Given the description of an element on the screen output the (x, y) to click on. 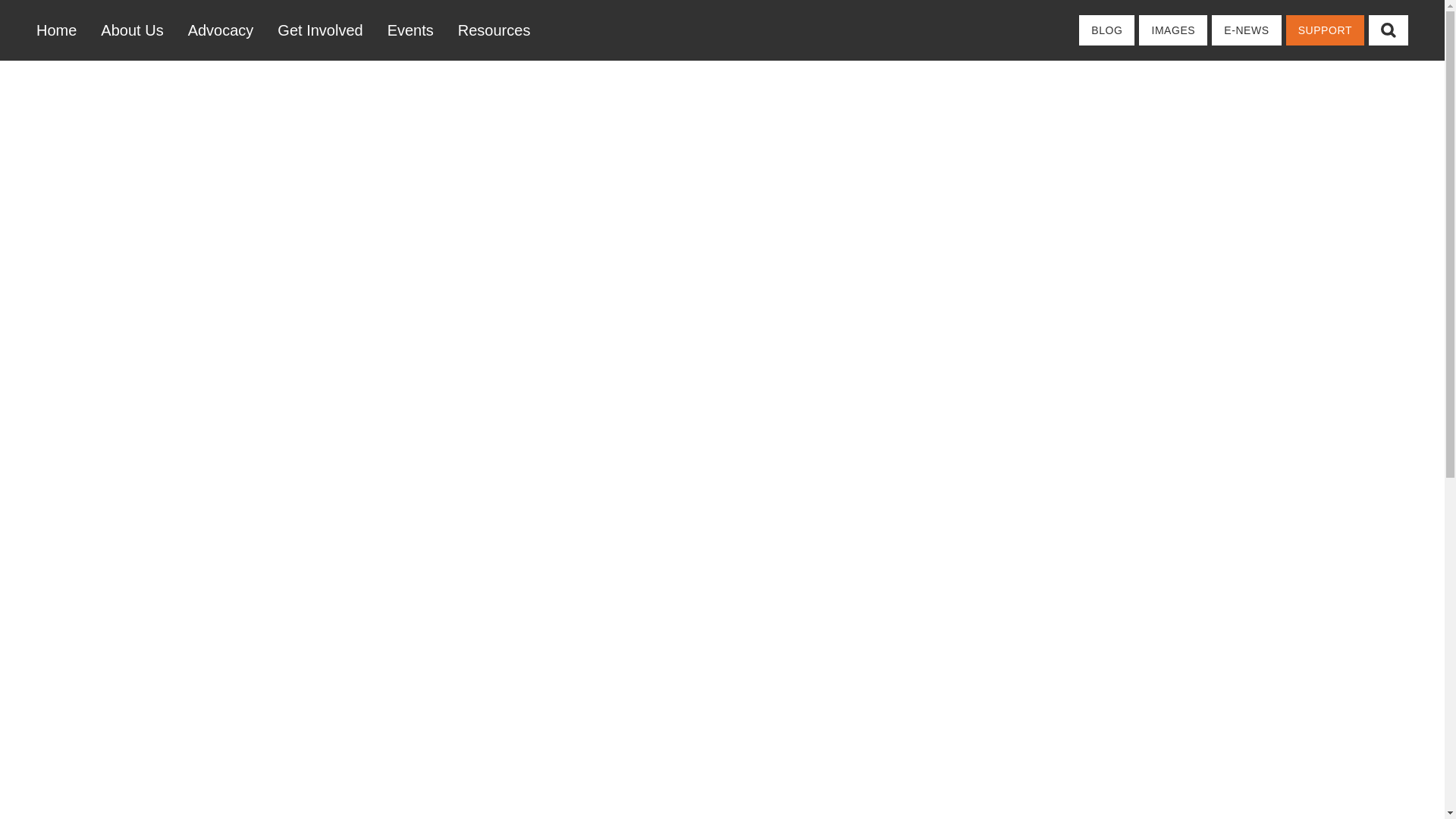
Advocacy (221, 30)
Home (62, 30)
Get Involved (319, 30)
About Us (131, 30)
Events (410, 30)
